Given the description of an element on the screen output the (x, y) to click on. 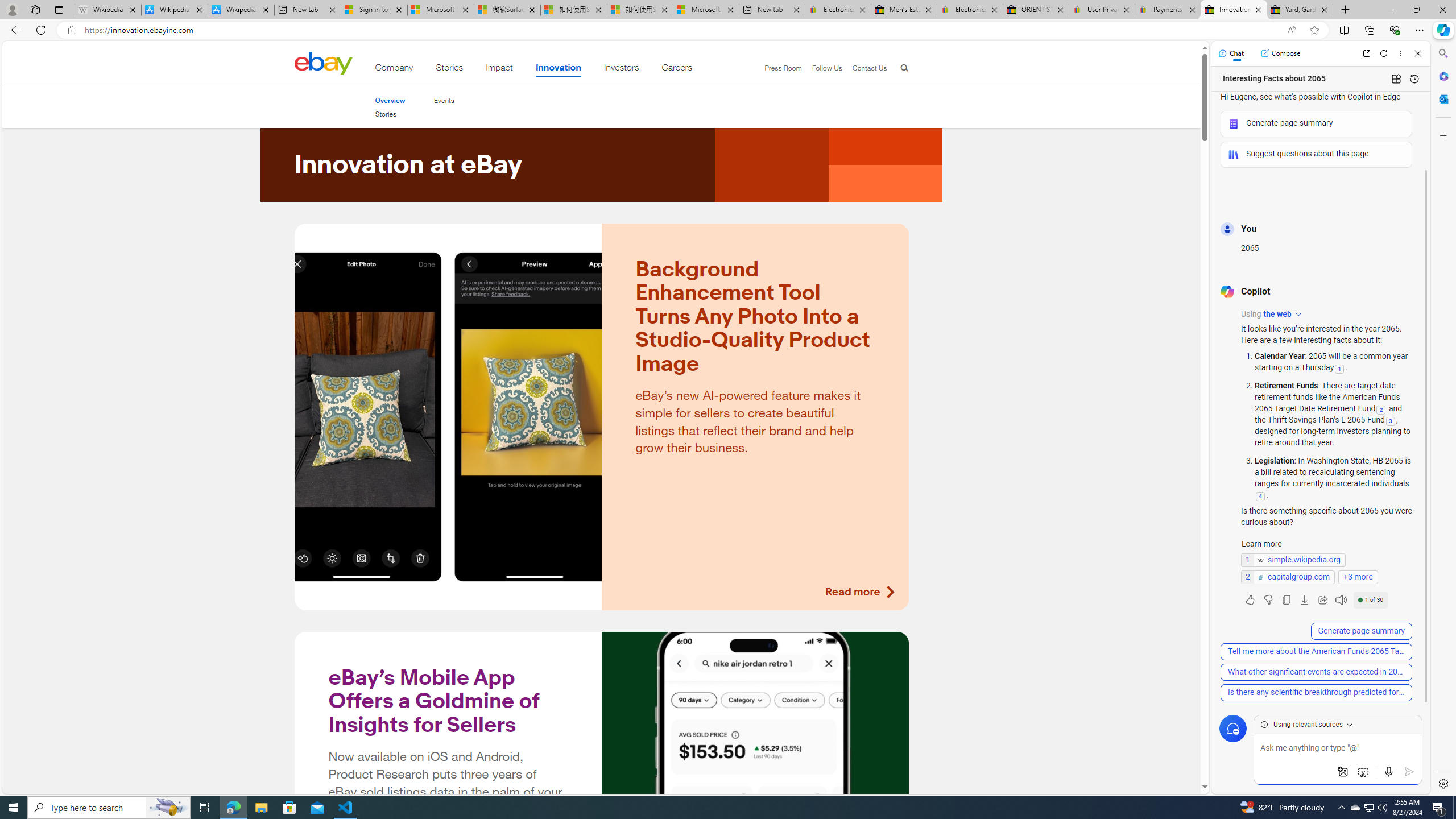
Chat (1231, 52)
Payments Terms of Use | eBay.com (1167, 9)
Innovation - eBay Inc. (1233, 9)
Innovation (557, 69)
Innovation (557, 69)
Contact Us (868, 67)
